Given the description of an element on the screen output the (x, y) to click on. 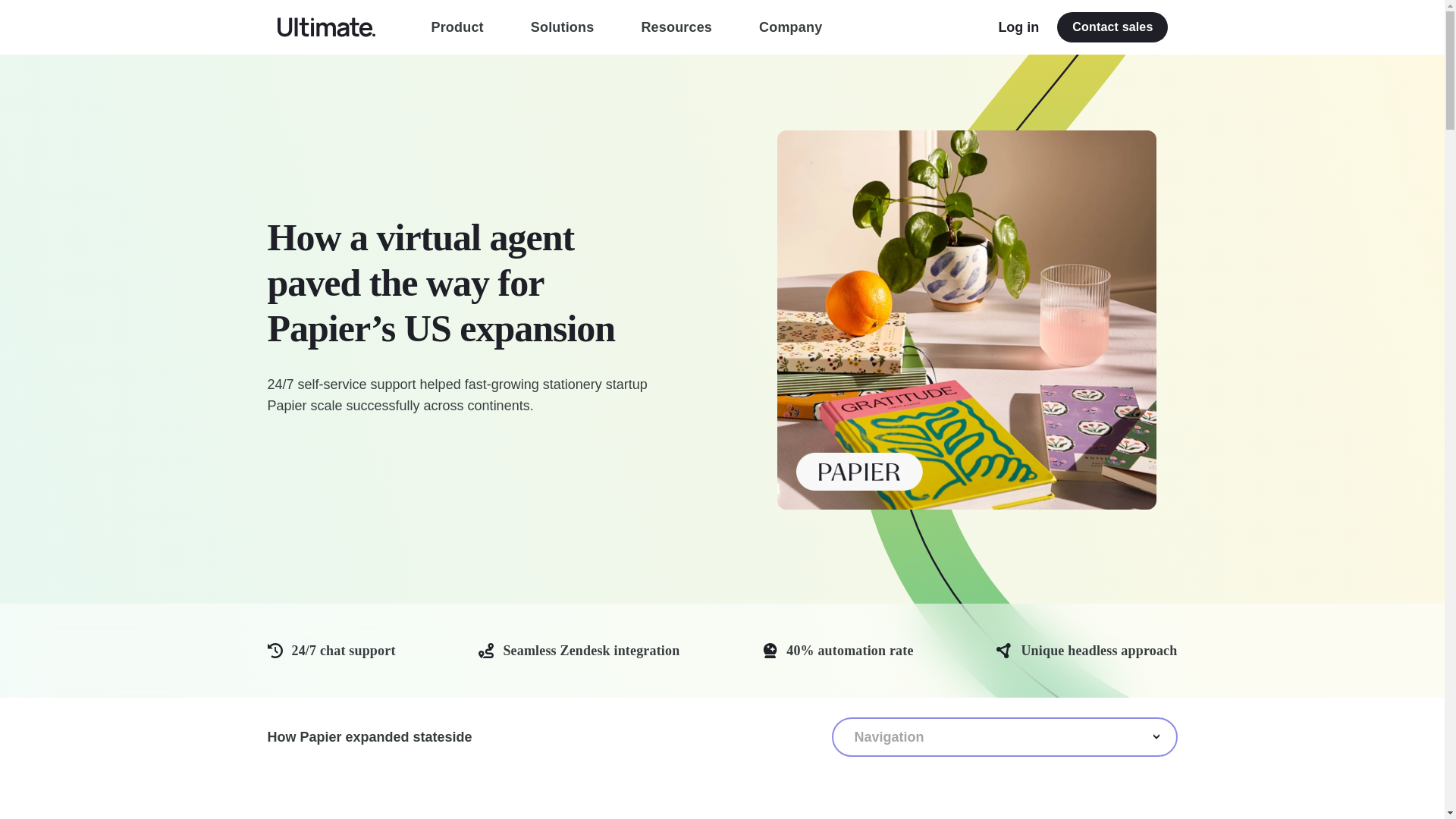
Company (790, 27)
Resources (676, 27)
Product (456, 27)
Solutions (562, 27)
